Given the description of an element on the screen output the (x, y) to click on. 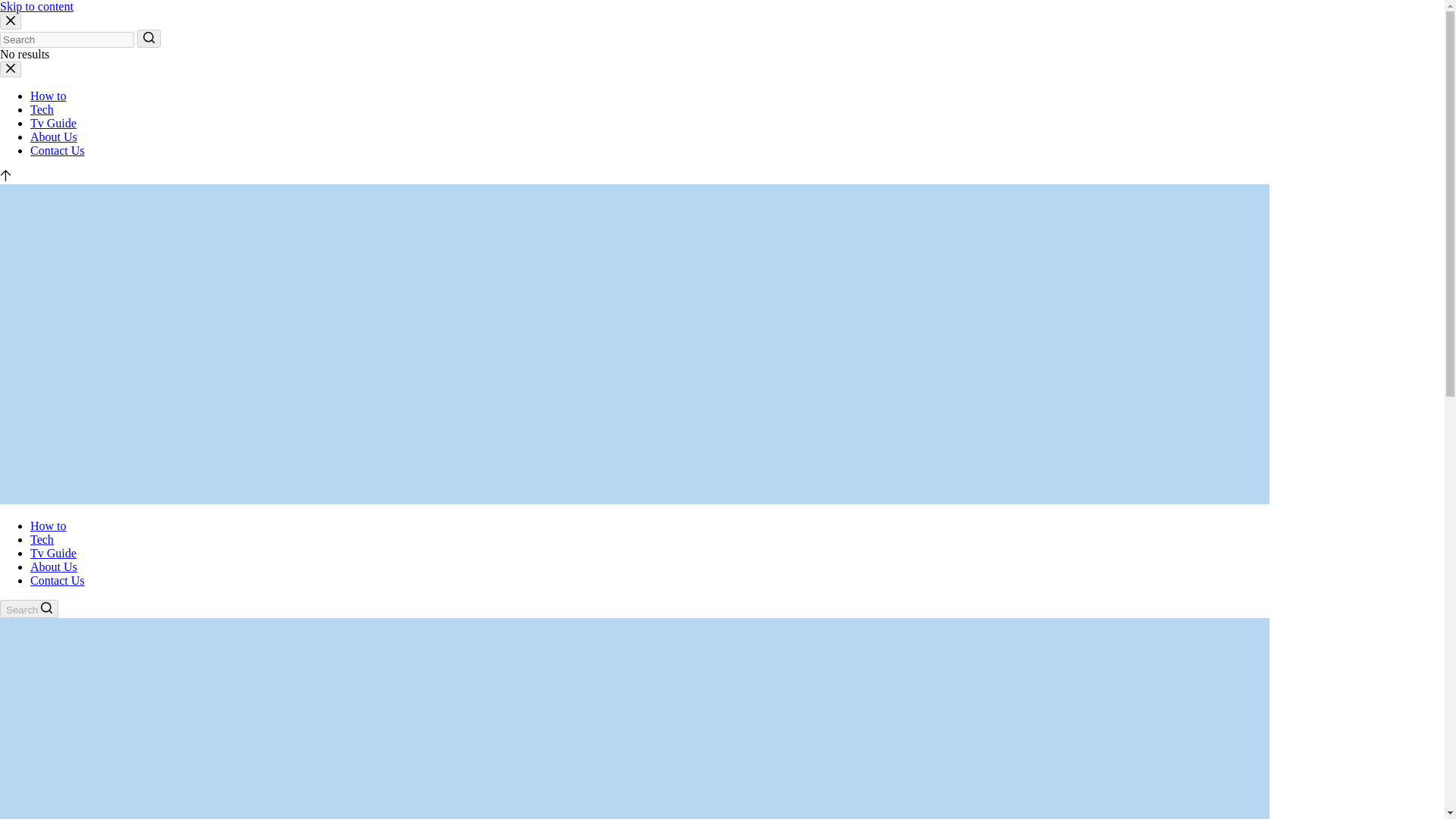
Tech (41, 539)
Tv Guide (53, 553)
Contact Us (57, 150)
About Us (53, 566)
Search for... (66, 39)
Contact Us (57, 580)
Skip to content (37, 6)
Search (29, 608)
Go to top (5, 176)
How to (48, 95)
Tv Guide (53, 123)
How to (48, 525)
About Us (53, 136)
Tech (41, 109)
